Given the description of an element on the screen output the (x, y) to click on. 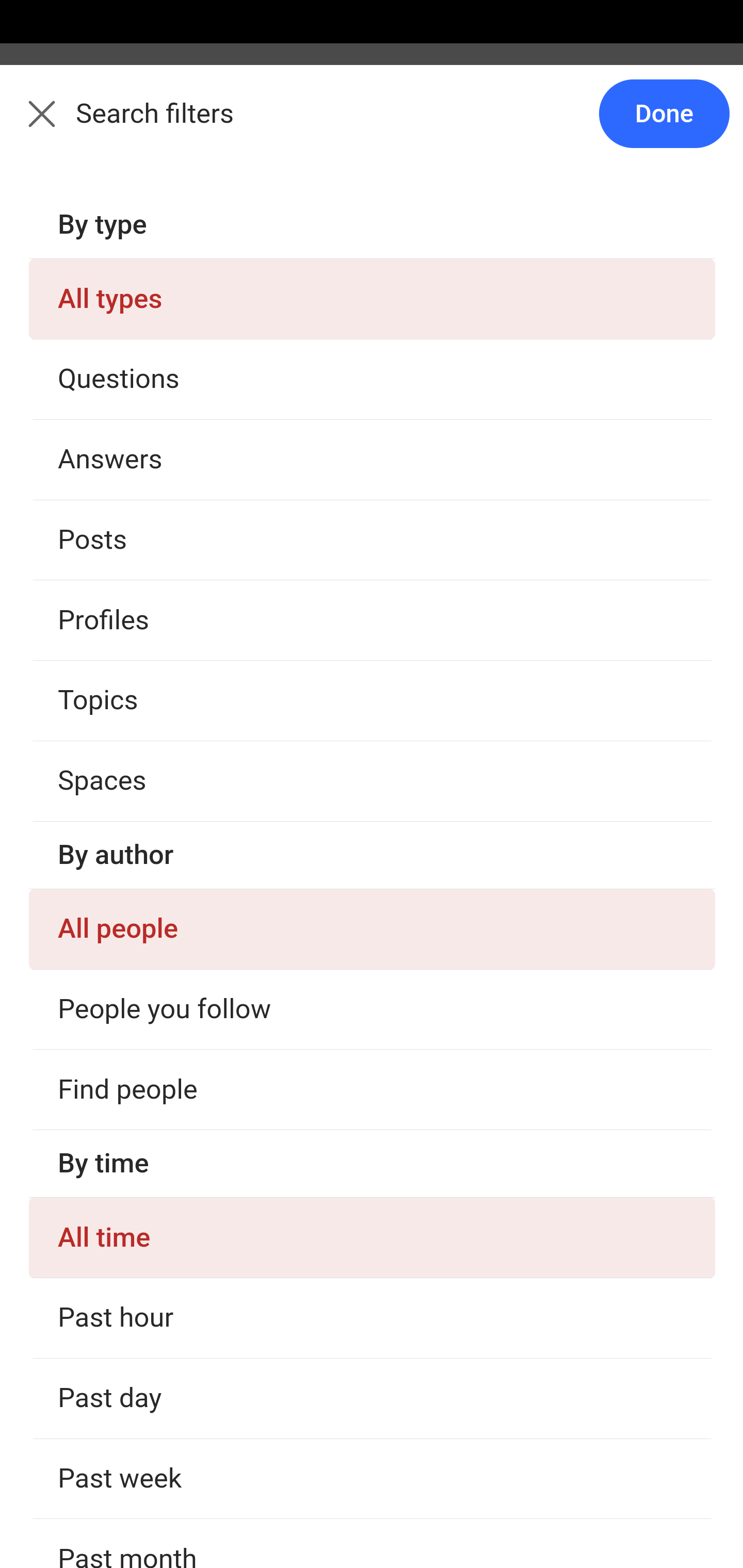
Back Search (371, 125)
Back (30, 125)
What is the best way to learn JavaScript? (372, 464)
Answer (125, 769)
Answer (125, 1403)
